Given the description of an element on the screen output the (x, y) to click on. 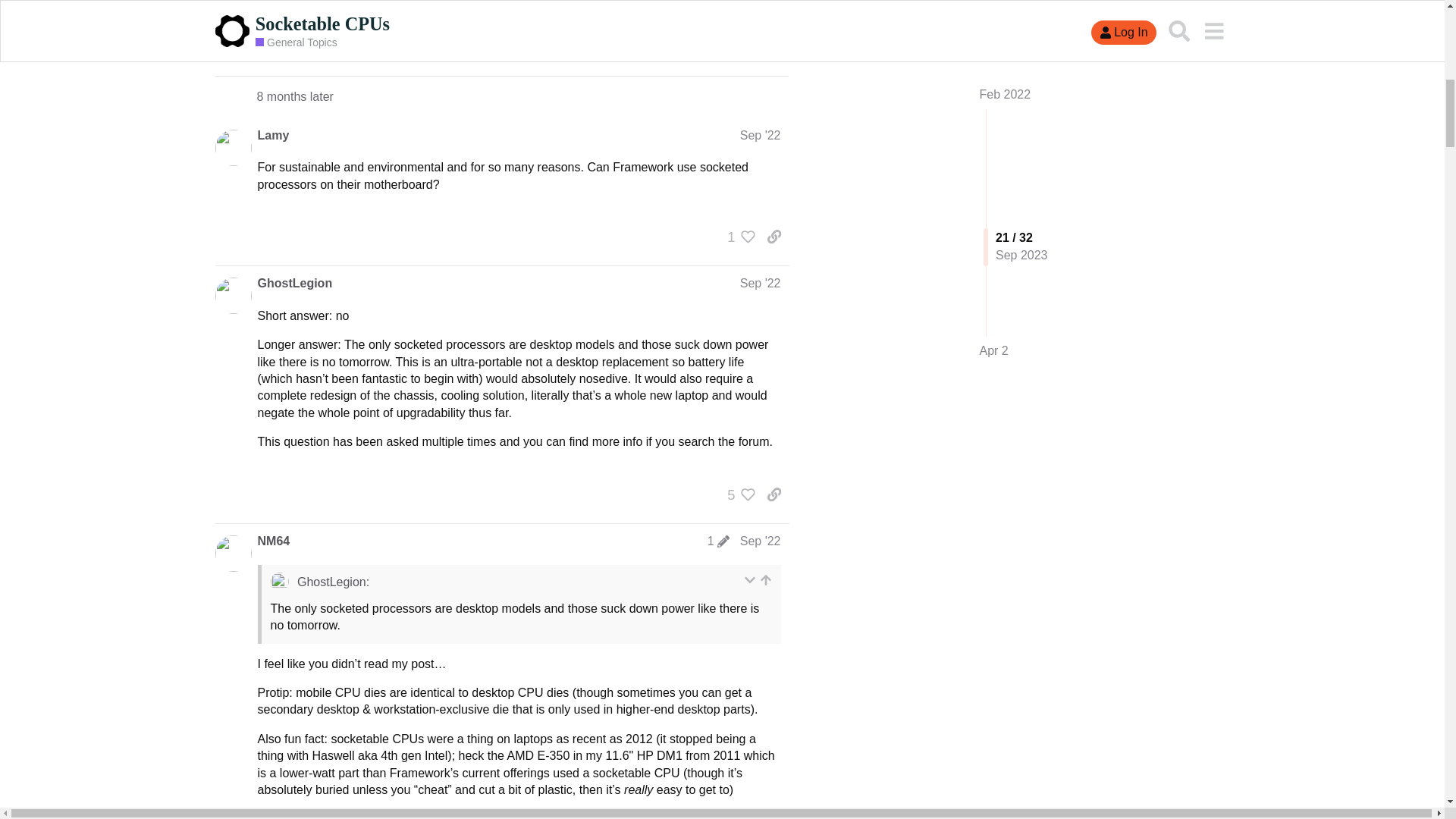
3 (737, 47)
